Given the description of an element on the screen output the (x, y) to click on. 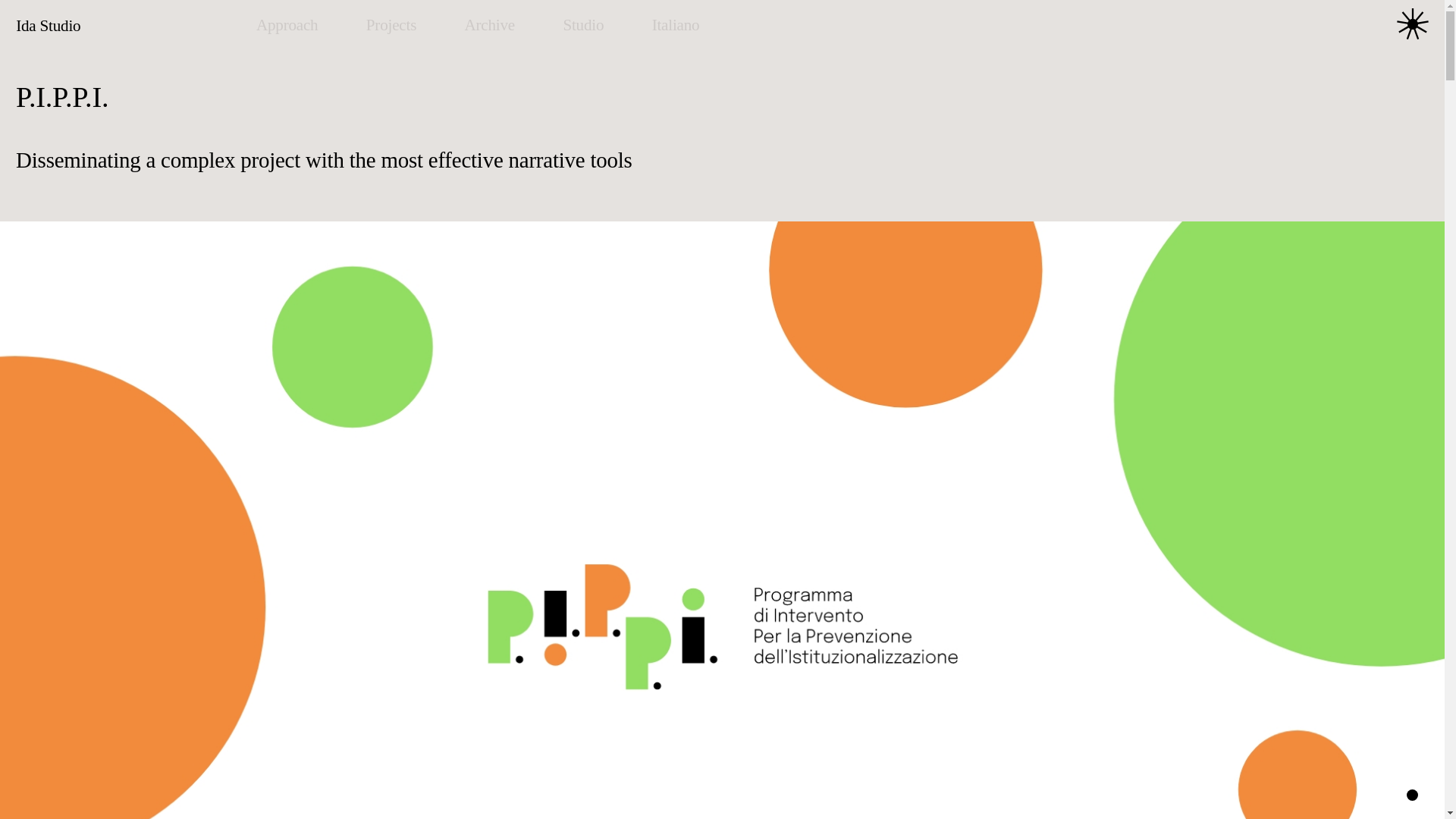
Projects (391, 25)
Ida Studio (136, 25)
Approach (287, 25)
Italiano (676, 25)
Archive (489, 25)
Ida Studio (136, 25)
